Given the description of an element on the screen output the (x, y) to click on. 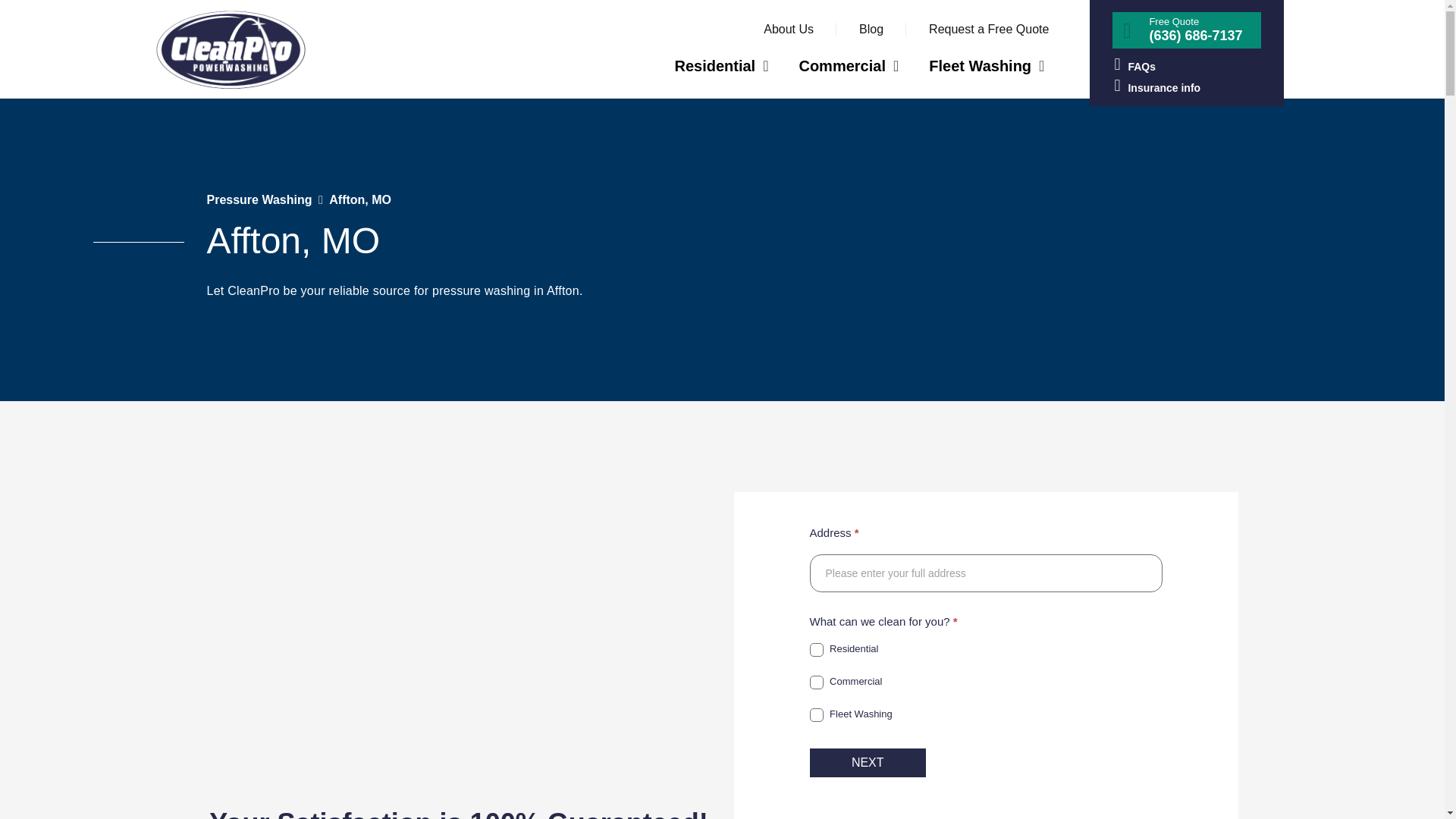
About Us (787, 29)
Residential (721, 65)
Pressure Washing (258, 199)
NEXT (867, 762)
Fleet Washing (986, 65)
Residential (816, 649)
Insurance info (1186, 85)
Blog (871, 29)
Commercial (816, 682)
Fleet Washing (816, 714)
Request a Free Quote (988, 29)
Commercial (848, 65)
FAQs (1186, 65)
